Given the description of an element on the screen output the (x, y) to click on. 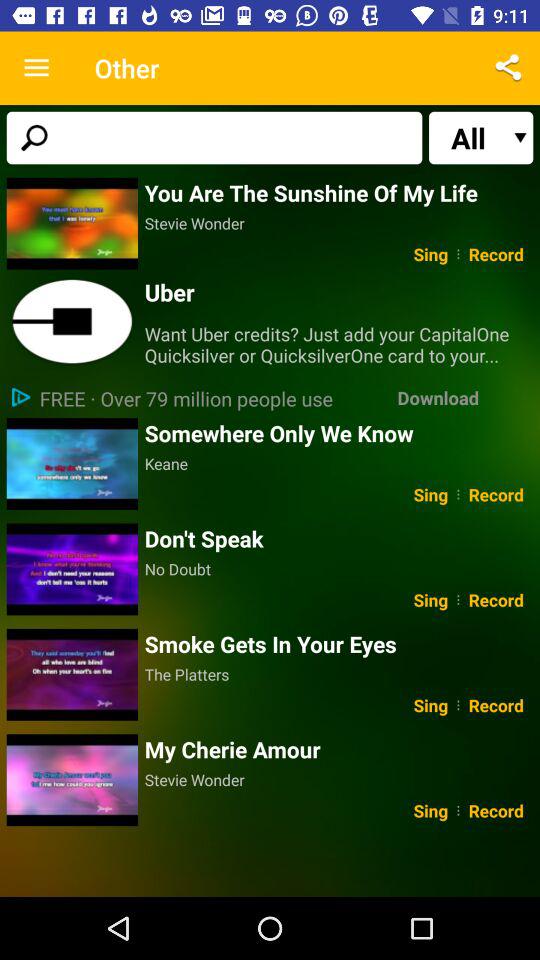
choose the item to the right of free over 79 item (438, 397)
